Given the description of an element on the screen output the (x, y) to click on. 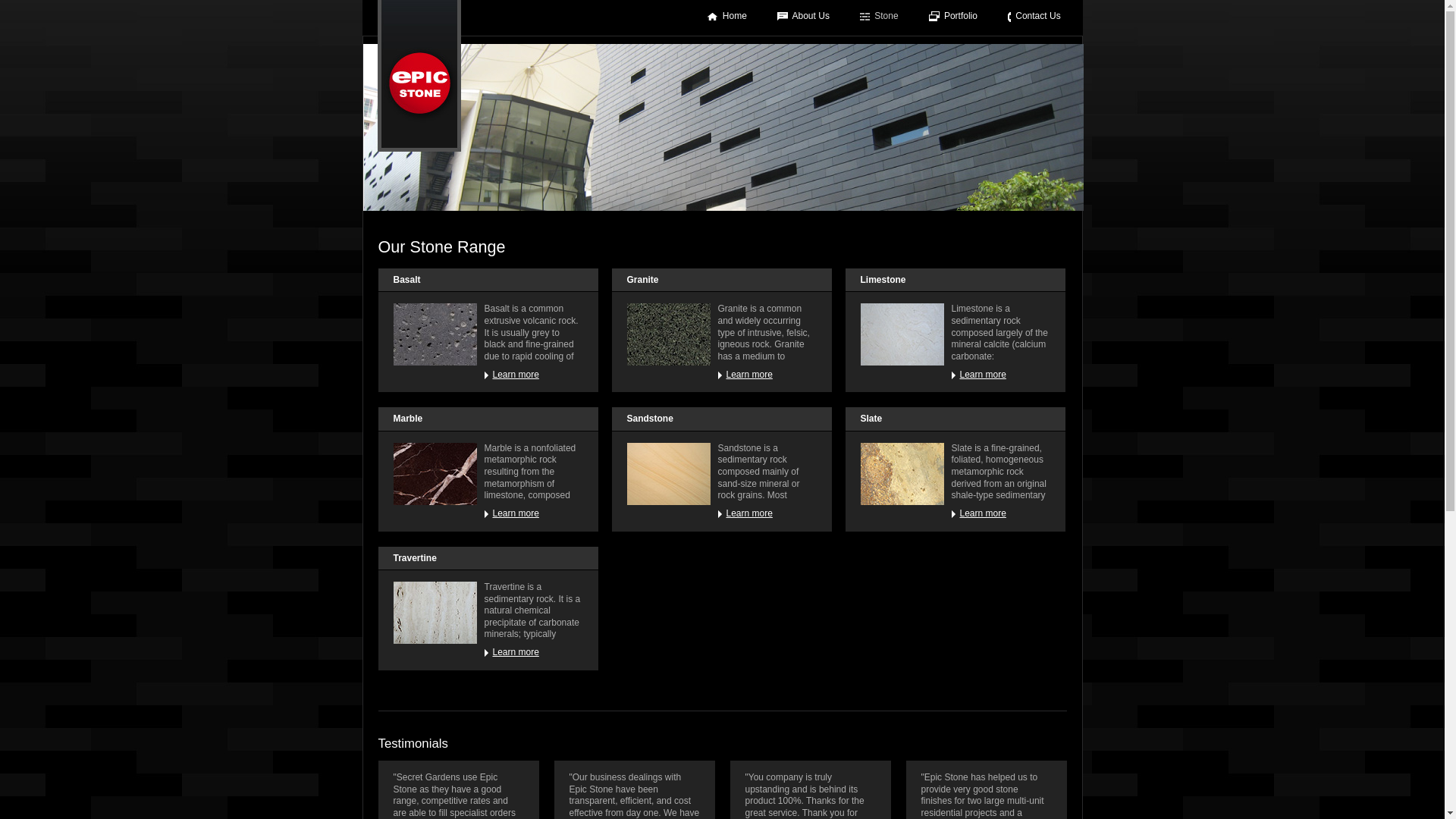
Epic Stone Element type: text (419, 75)
Learn more Element type: text (532, 652)
Portfolio Element type: text (952, 15)
About Us Element type: text (803, 15)
Learn more Element type: text (532, 514)
Contact Us Element type: text (1033, 15)
Learn more Element type: text (766, 375)
Learn more Element type: text (999, 514)
Learn more Element type: text (766, 514)
Learn more Element type: text (999, 375)
Home Element type: text (726, 15)
Learn more Element type: text (532, 375)
Stone Element type: text (878, 15)
